Given the description of an element on the screen output the (x, y) to click on. 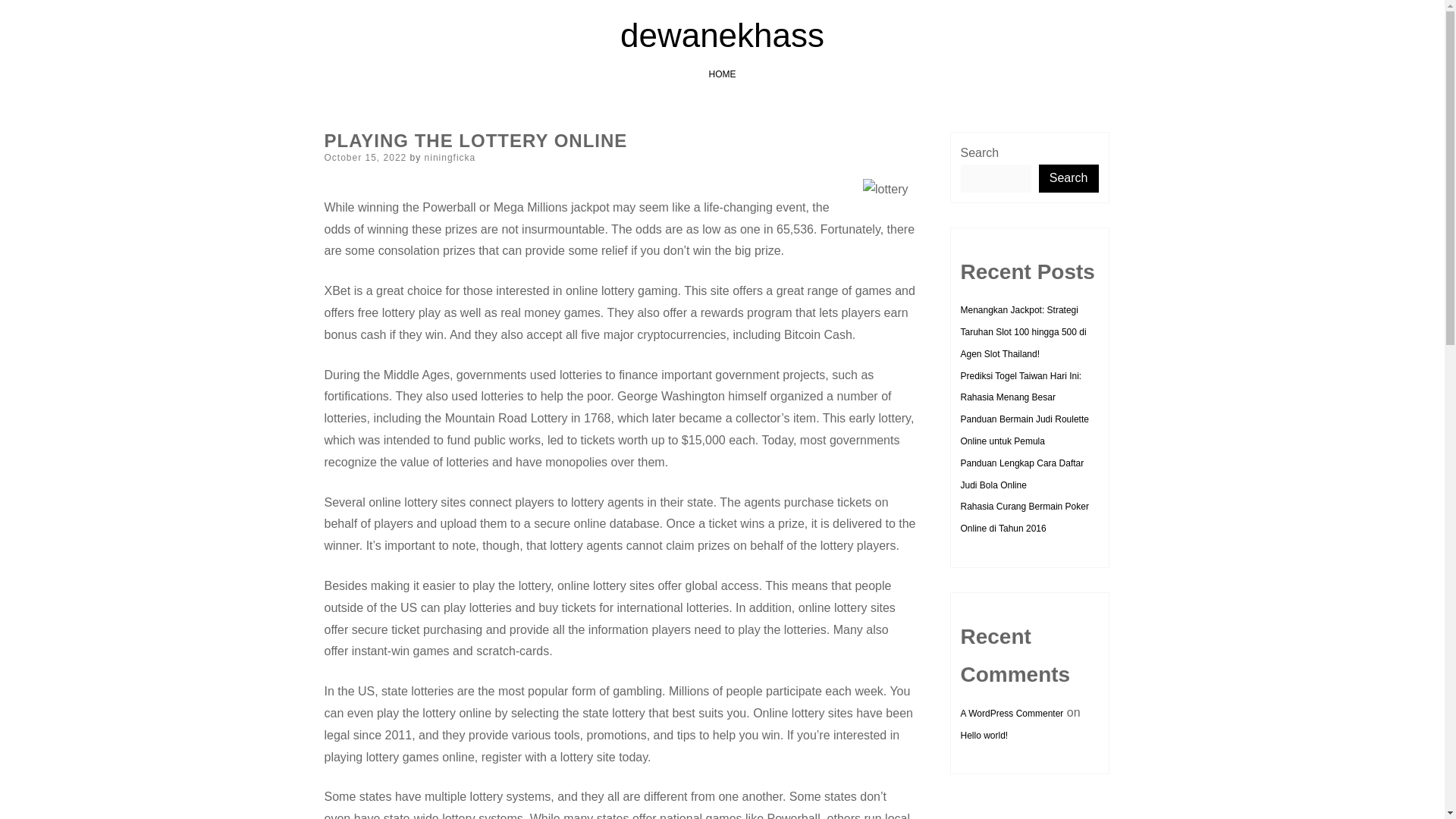
October 15, 2022 (365, 157)
HOME (721, 73)
Prediksi Togel Taiwan Hari Ini: Rahasia Menang Besar (1020, 387)
dewanekhass (722, 35)
Panduan Lengkap Cara Daftar Judi Bola Online (1021, 473)
Hello world! (983, 735)
Panduan Bermain Judi Roulette Online untuk Pemula (1023, 430)
niningficka (450, 157)
